Given the description of an element on the screen output the (x, y) to click on. 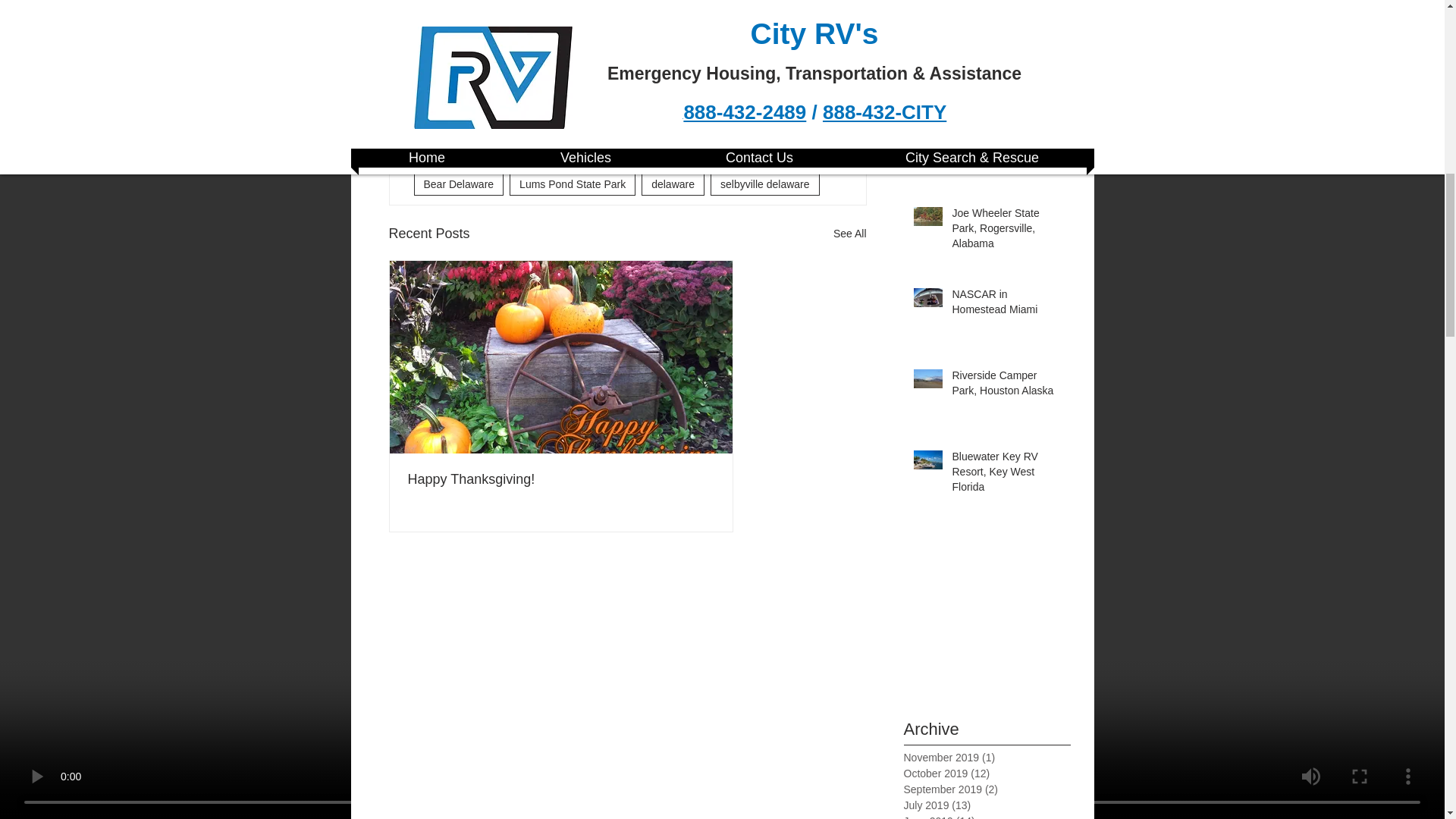
scenic rv travel (771, 11)
planet rv ft lauderdale (655, 97)
scenic rv travels (540, 97)
Lums Pond State Park, Bear (490, 155)
minnie winnie (455, 39)
cruise america ft lauderdale (567, 68)
cruise america key west (713, 68)
cruise america (766, 97)
orlando rvs (449, 68)
cruise america florida (563, 39)
winnebago (684, 11)
rv planners (449, 97)
cruise america miami florida (489, 11)
el monte rv (673, 126)
planet rvs ft lauderdale (477, 126)
